Given the description of an element on the screen output the (x, y) to click on. 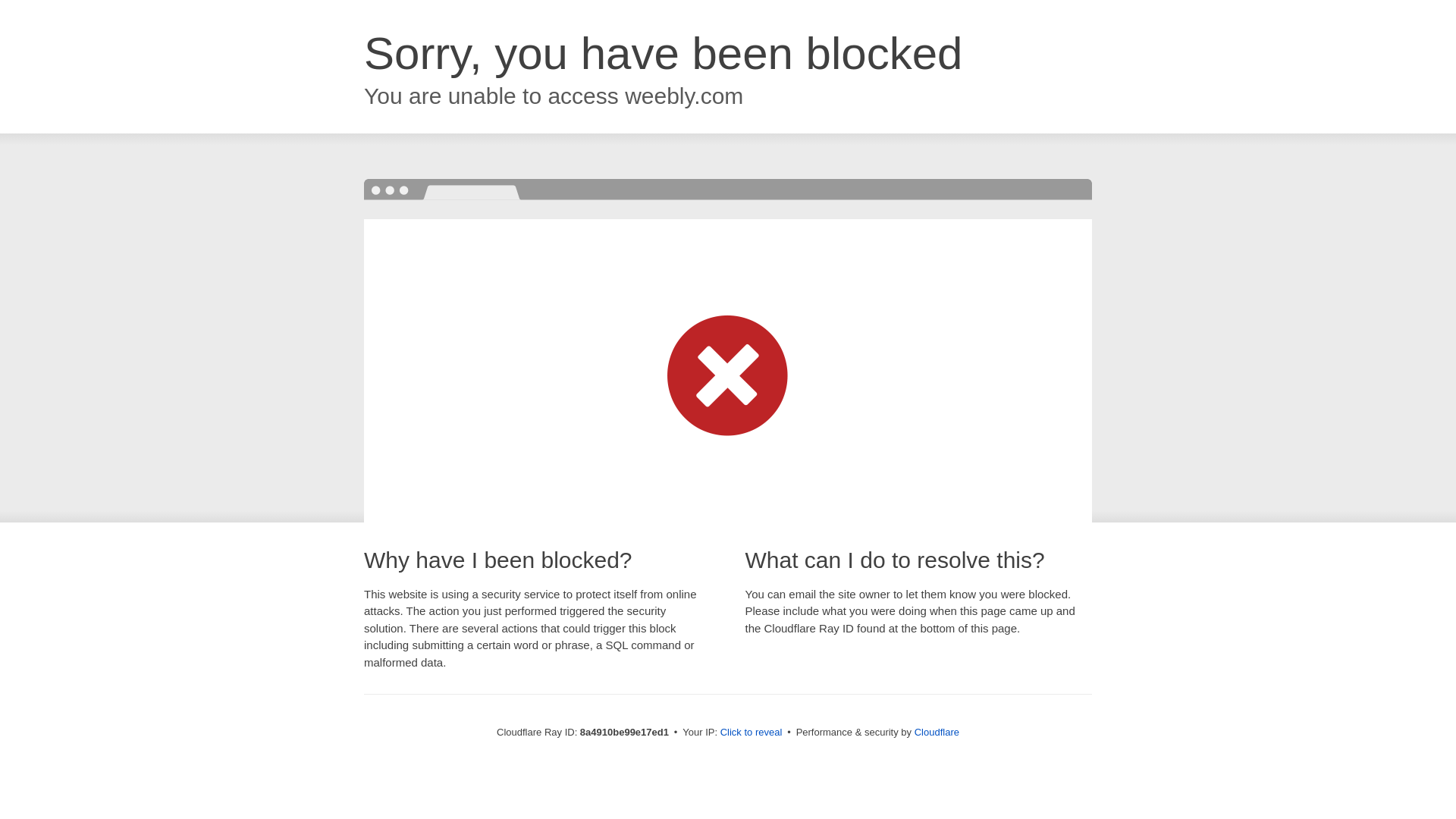
Cloudflare (936, 731)
Click to reveal (751, 732)
